Given the description of an element on the screen output the (x, y) to click on. 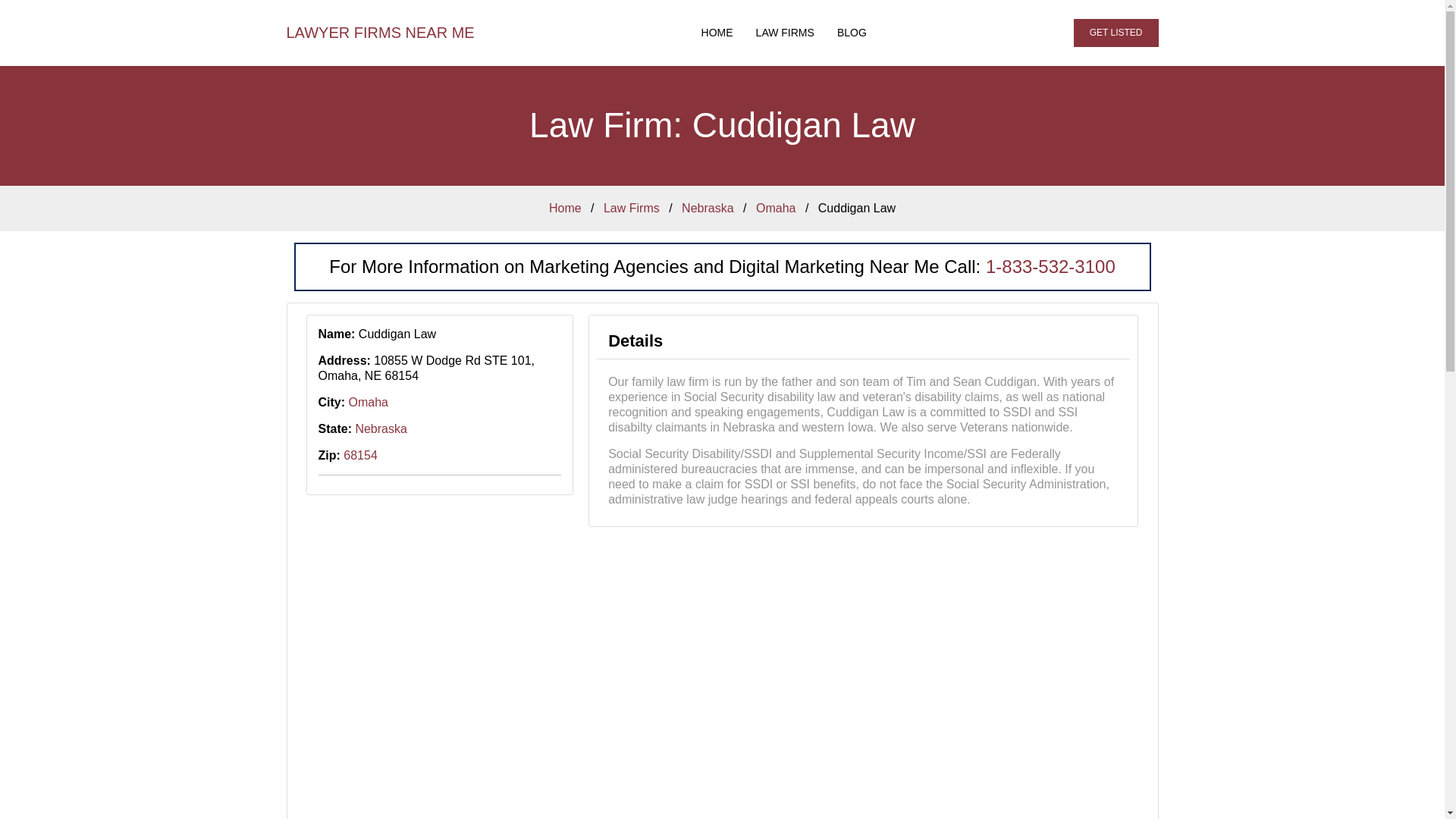
Omaha (368, 401)
Law Firms (631, 207)
LAW FIRMS (784, 33)
68154 (360, 454)
HOME (717, 33)
BLOG (851, 33)
1-833-532-3100 (1050, 266)
Blog (851, 33)
GET LISTED (1116, 32)
Nebraska (707, 207)
Omaha (774, 207)
Home (564, 207)
Cuddigan Law (856, 207)
Home (717, 33)
Law Firms (784, 33)
